Given the description of an element on the screen output the (x, y) to click on. 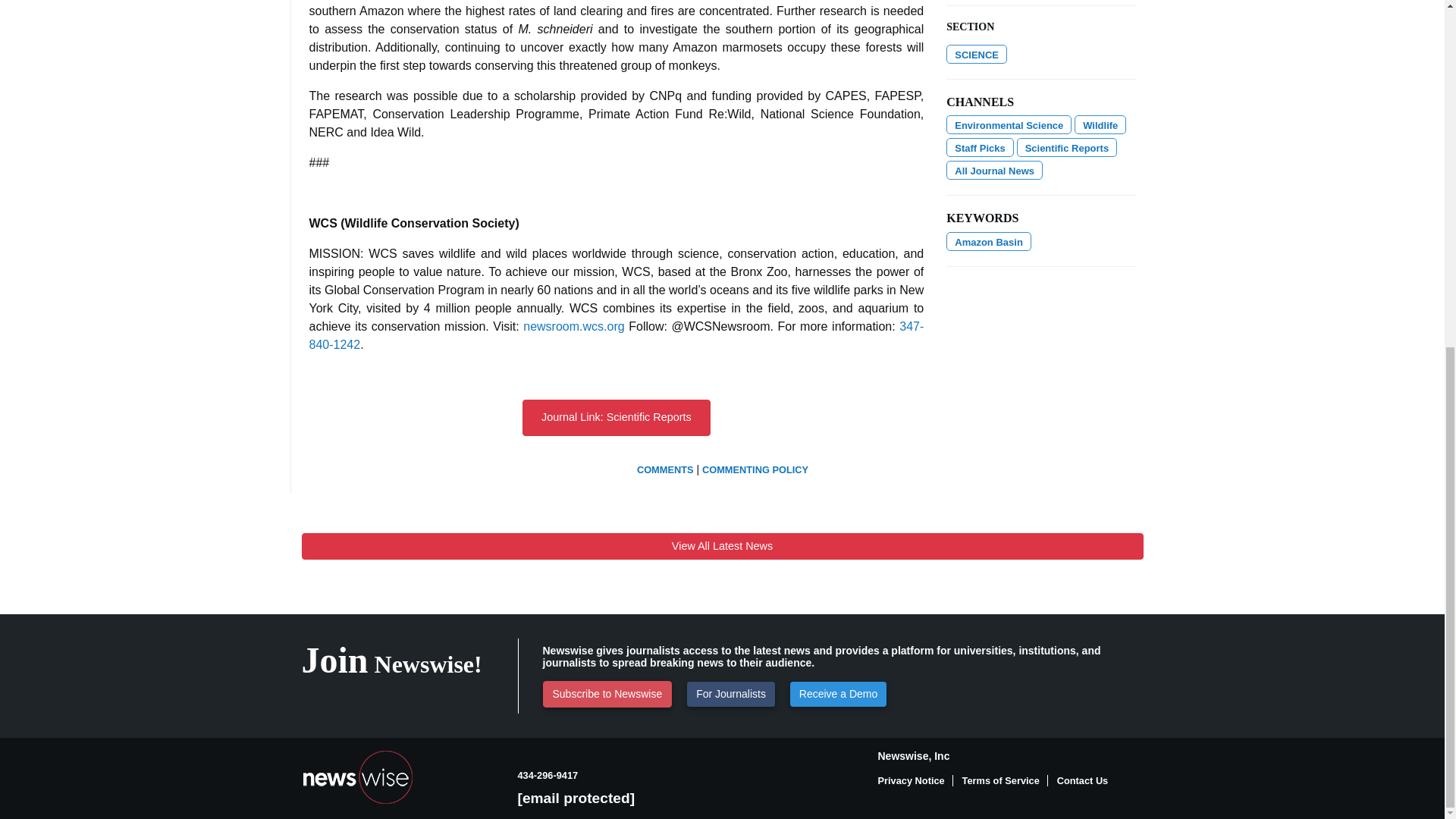
Show all articles in this channel (1099, 124)
Show all articles in this channel (976, 54)
Show all articles in this channel (1008, 124)
